Given the description of an element on the screen output the (x, y) to click on. 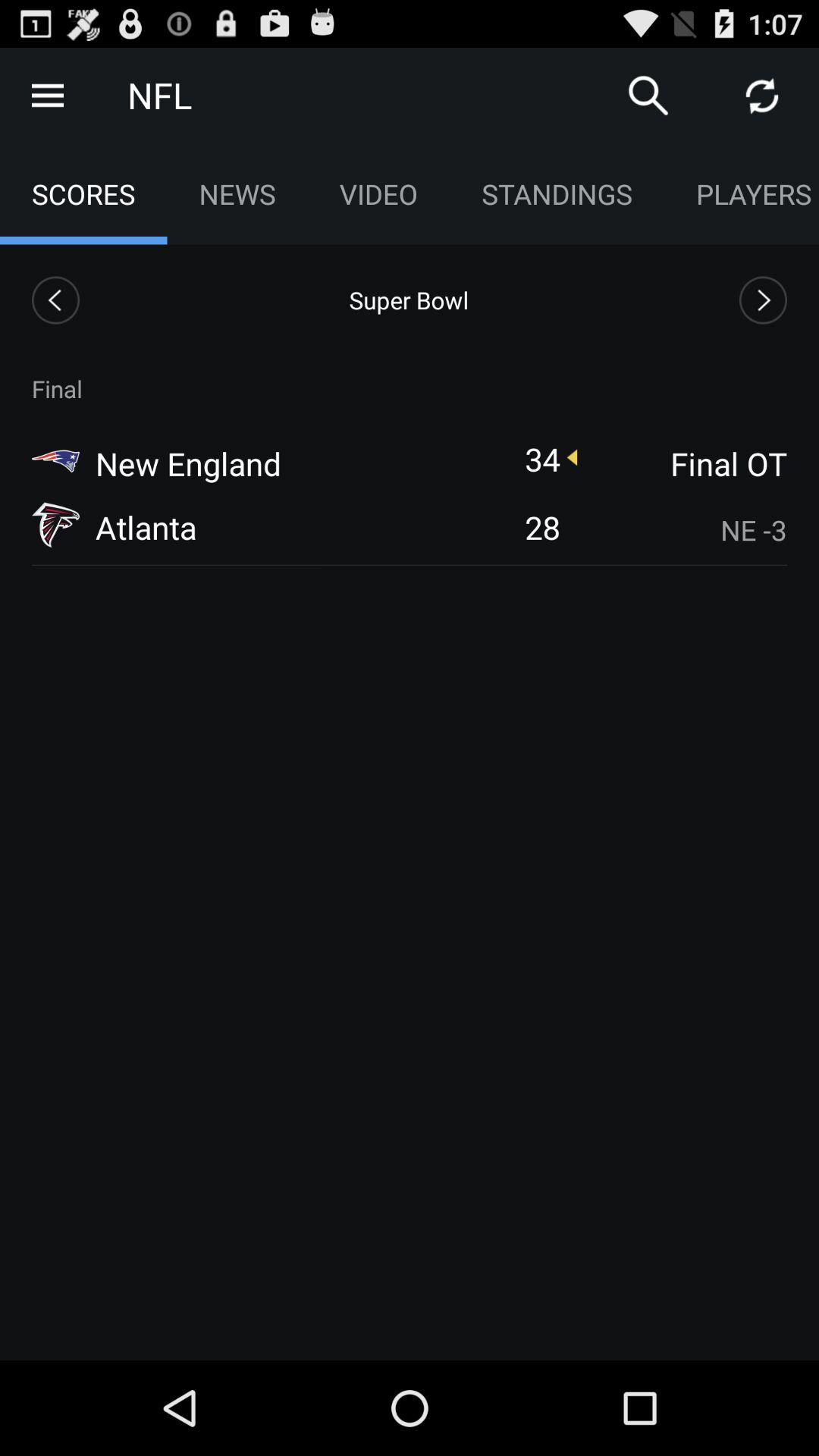
click icon below video app (408, 299)
